Given the description of an element on the screen output the (x, y) to click on. 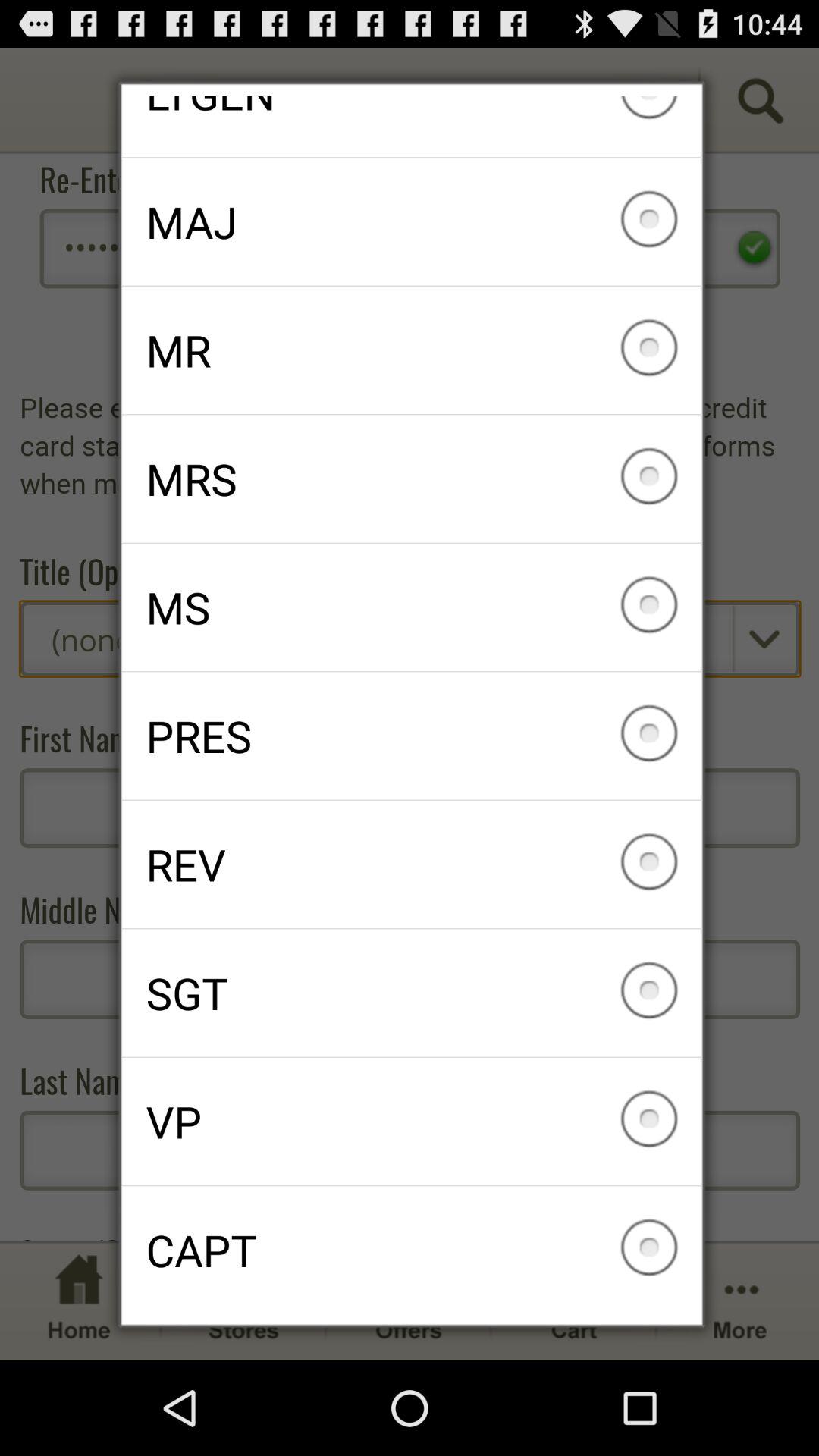
jump until capt checkbox (411, 1249)
